Given the description of an element on the screen output the (x, y) to click on. 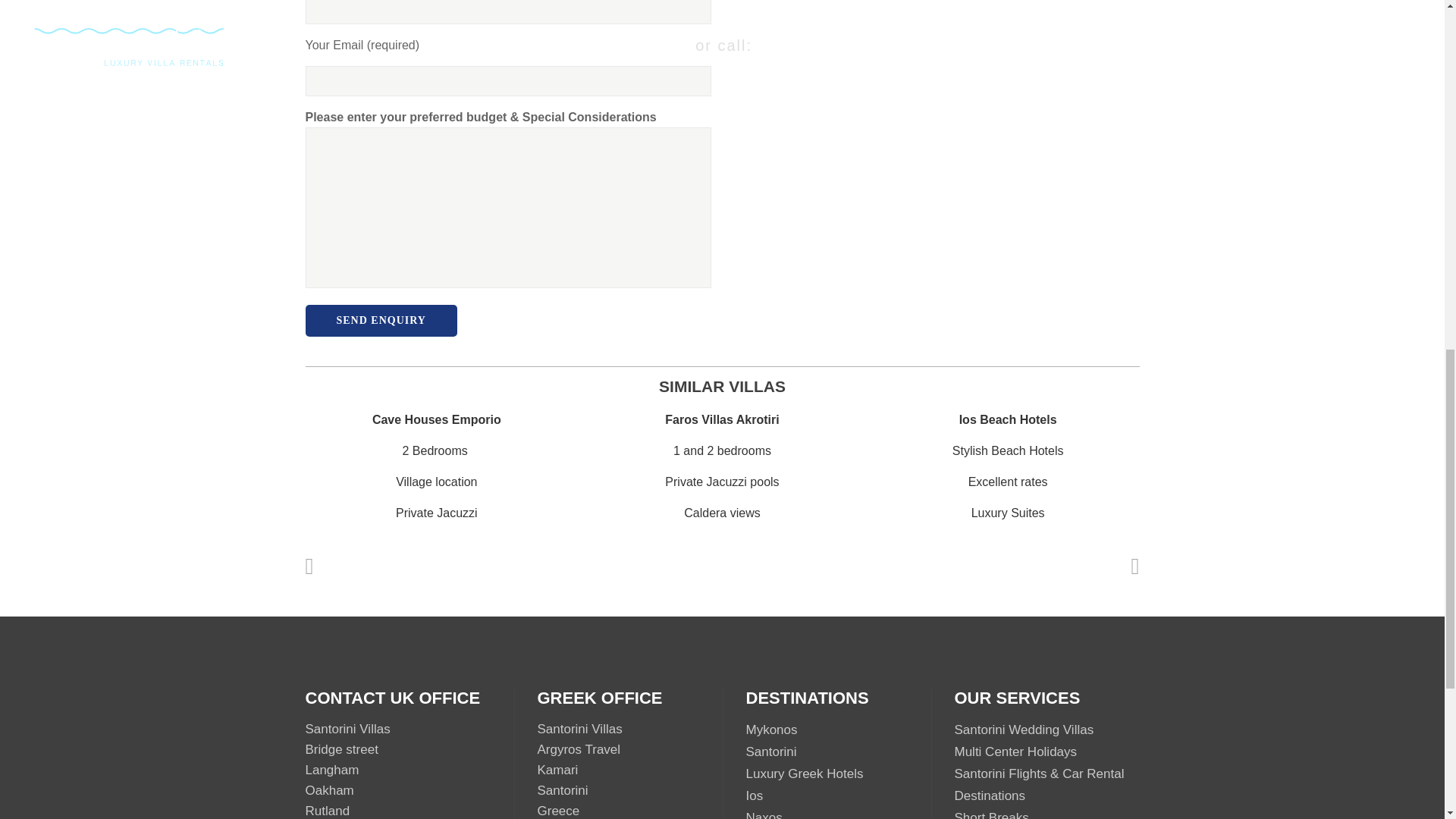
Villas in Mykonos (771, 729)
Send Enquiry (380, 320)
Villas in Santorini (770, 751)
Naxos Luxury Hotels (764, 814)
Luxury Greek Hotels (804, 773)
Ios Luxury Hotels (753, 795)
